Given the description of an element on the screen output the (x, y) to click on. 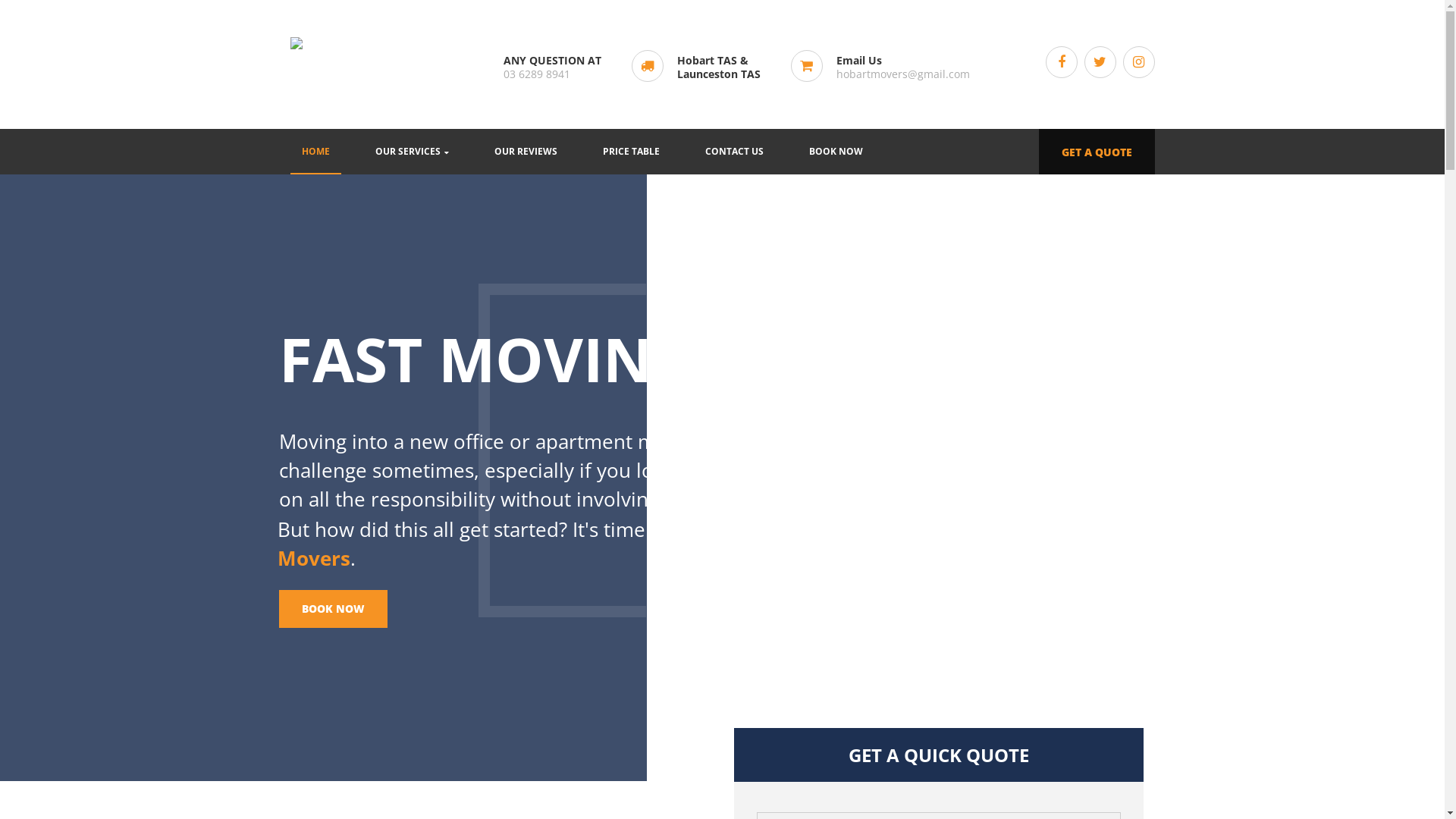
BOOK NOW Element type: text (835, 151)
GET A QUOTE Element type: text (1096, 151)
OUR SERVICES Element type: text (412, 151)
OUR REVIEWS Element type: text (524, 151)
HOME Element type: text (314, 151)
hobartmovers@gmail.com Element type: text (902, 73)
BOOK NOW Element type: text (333, 608)
CONTACT US Element type: text (733, 151)
03 6289 8941 Element type: text (536, 73)
PRICE TABLE Element type: text (631, 151)
